Given the description of an element on the screen output the (x, y) to click on. 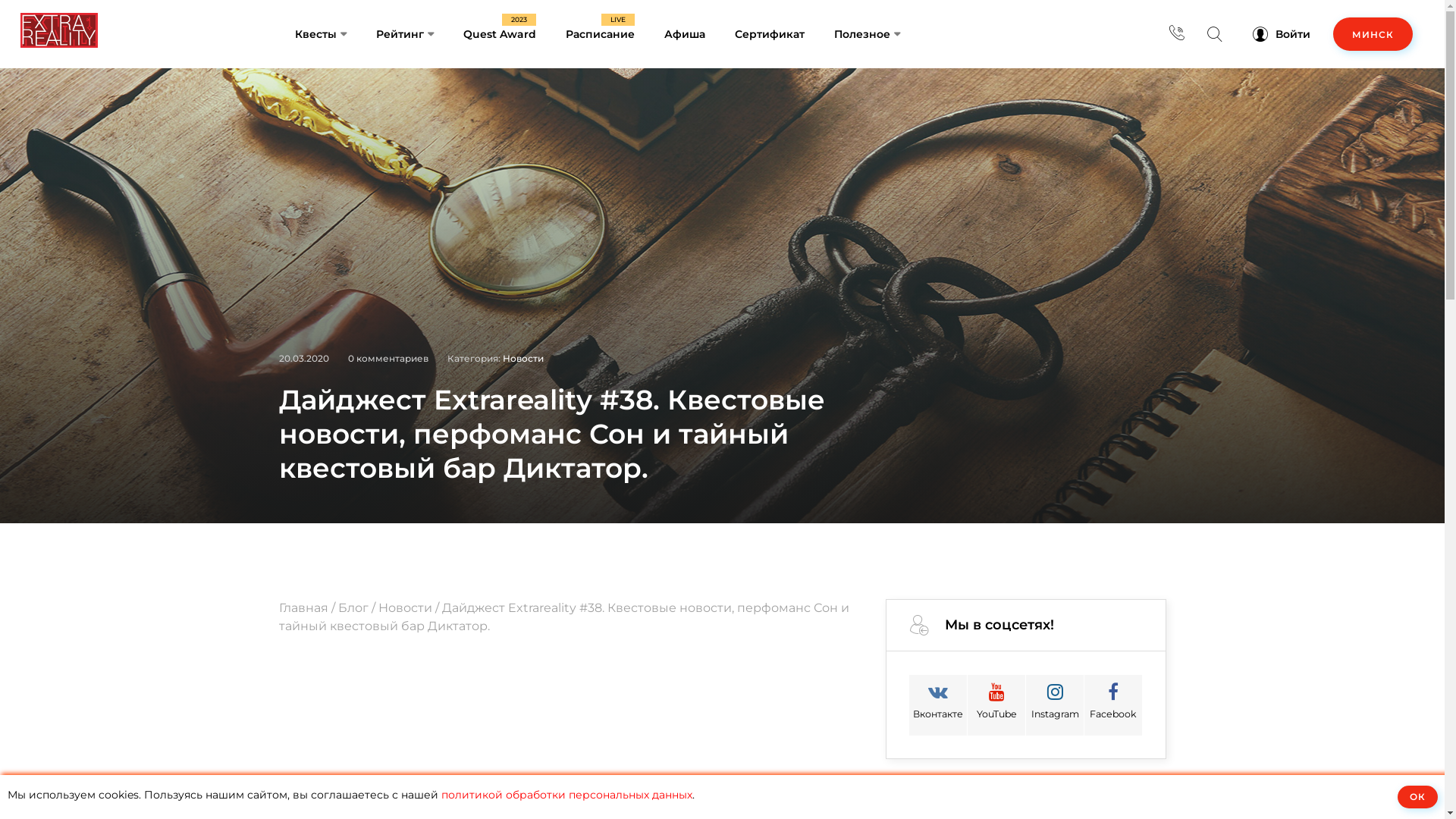
Facebook Element type: text (1113, 704)
Instagram Element type: text (1054, 704)
Quest Award
2023 Element type: text (511, 34)
YouTube Element type: text (996, 704)
